Given the description of an element on the screen output the (x, y) to click on. 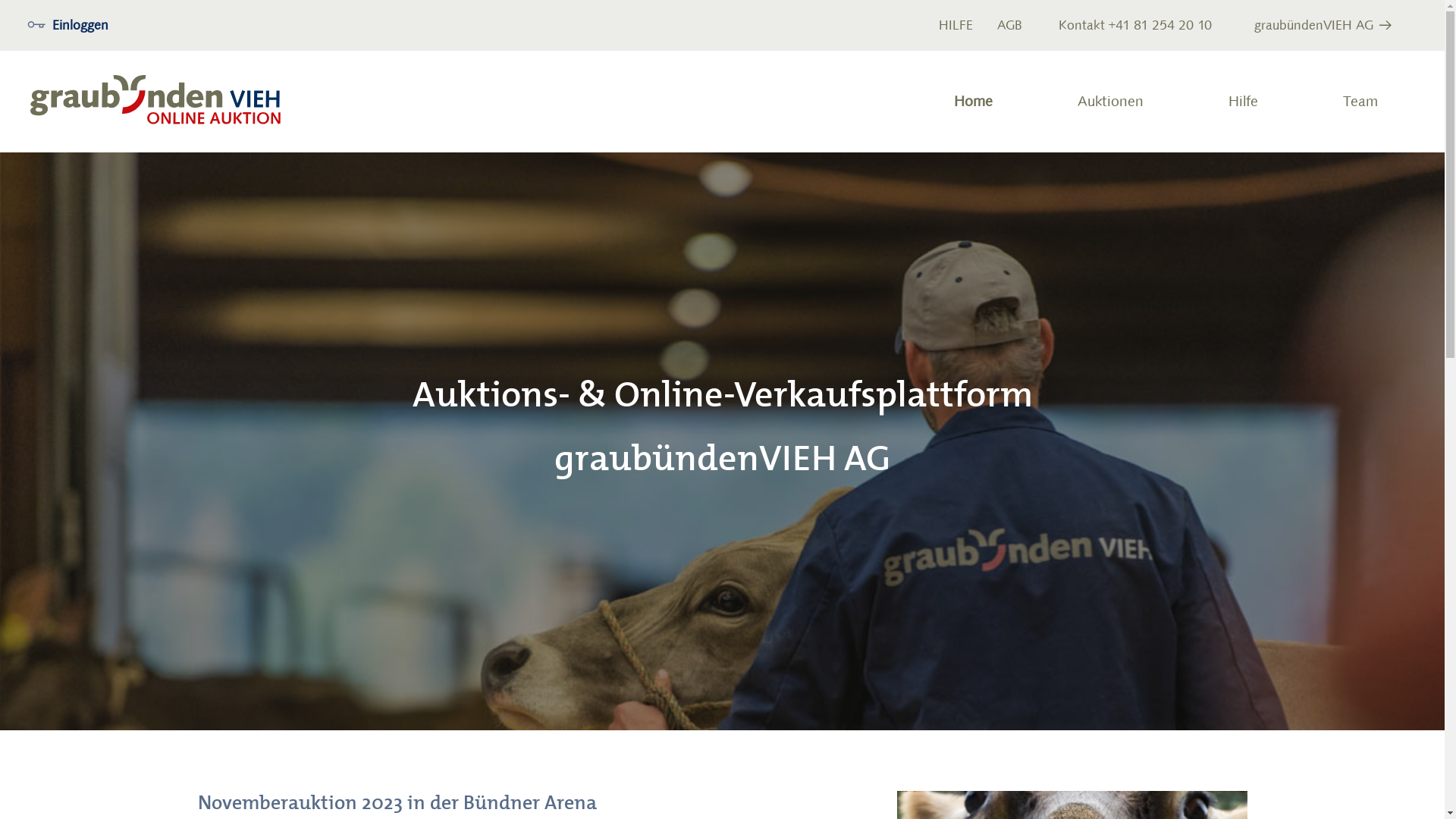
Einloggen Element type: text (67, 25)
HILFE Element type: text (955, 25)
Auktionen Element type: text (1110, 101)
Kontakt +41 81 254 20 10 Element type: text (1134, 25)
Home Element type: text (973, 101)
Hilfe Element type: text (1243, 101)
AGB Element type: text (1009, 25)
Team Element type: text (1360, 101)
